Given the description of an element on the screen output the (x, y) to click on. 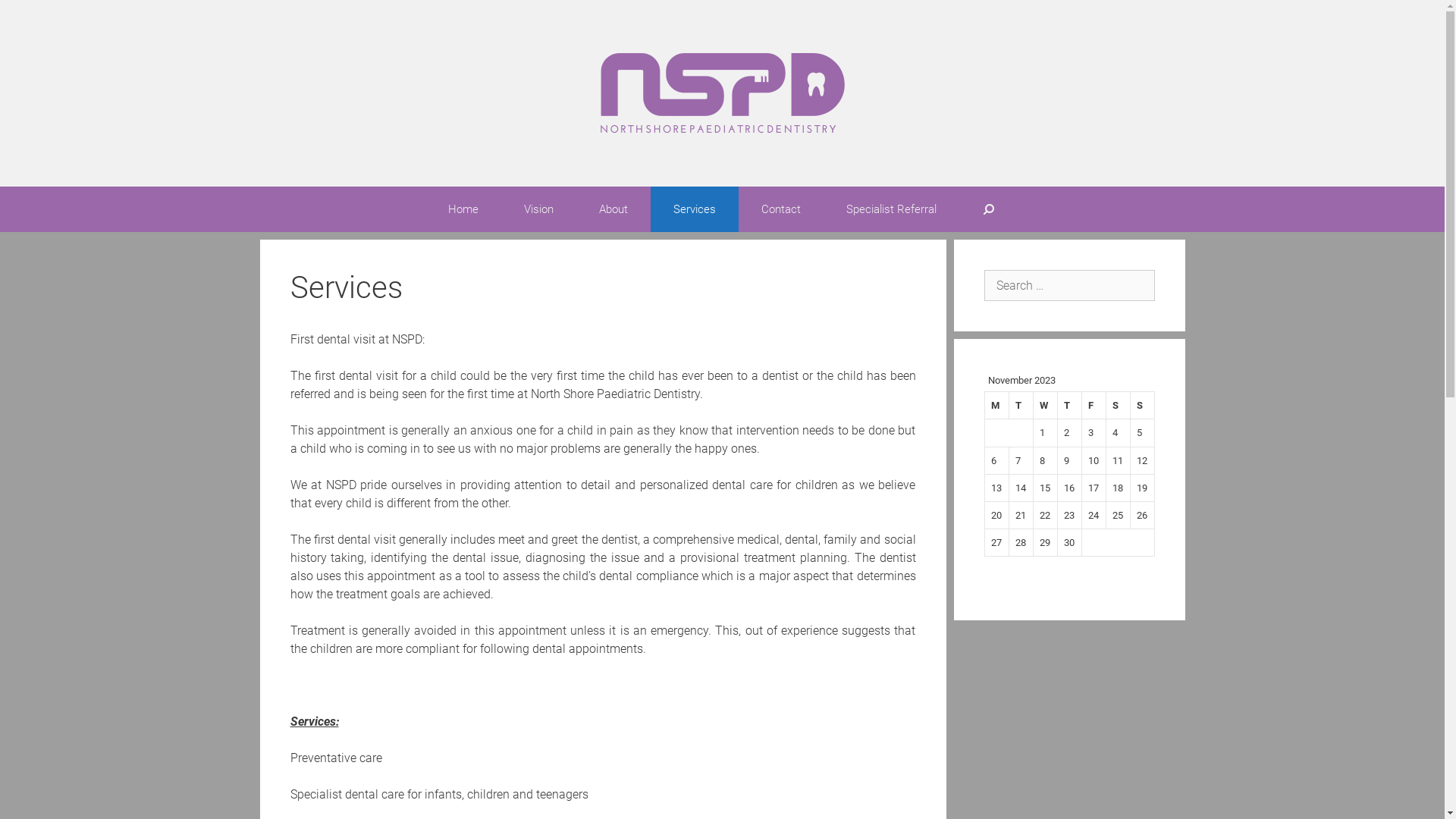
Search Element type: text (989, 209)
North Shore Paediatric Dentistry Element type: hover (722, 91)
Contact Element type: text (780, 209)
Vision Element type: text (538, 209)
Specialist Referral Element type: text (891, 209)
Home Element type: text (463, 209)
Search for: Element type: hover (1069, 285)
Services Element type: text (694, 209)
Search Element type: text (33, 14)
About Element type: text (613, 209)
North Shore Paediatric Dentistry Element type: hover (722, 93)
